Given the description of an element on the screen output the (x, y) to click on. 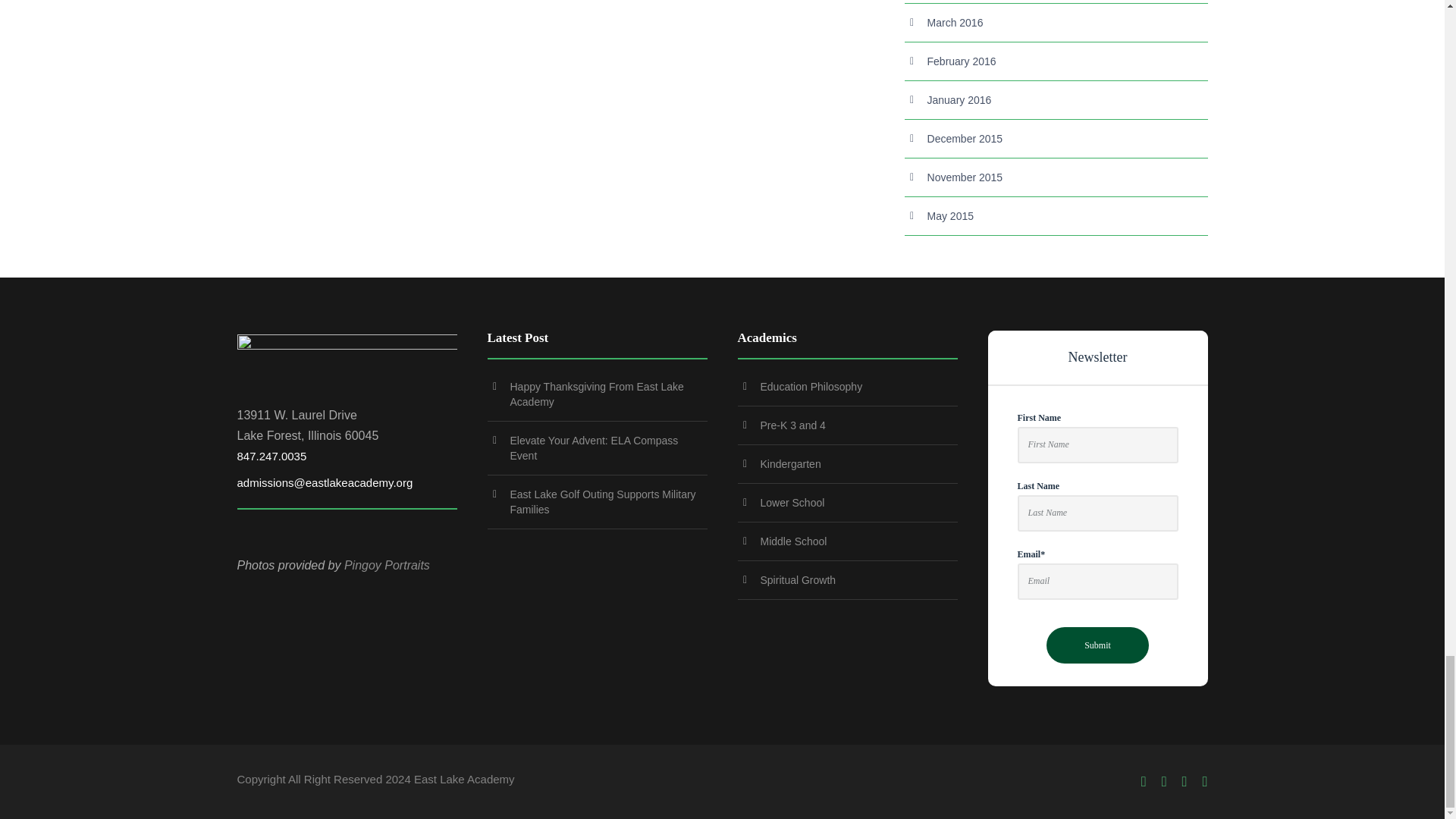
Submit (1097, 645)
